Given the description of an element on the screen output the (x, y) to click on. 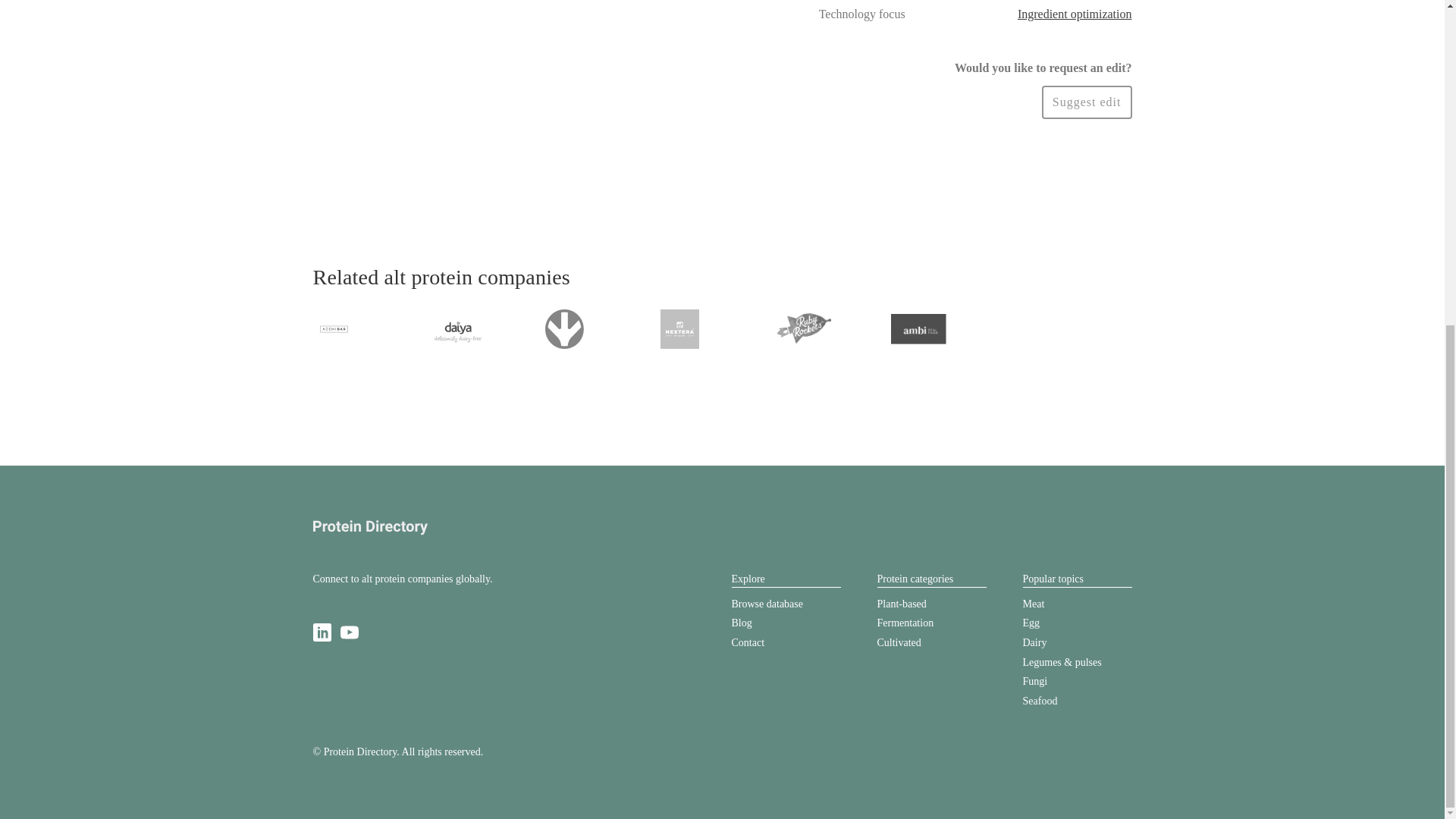
Connect to alt protein companies globally. (402, 579)
Contact (747, 642)
Ingredient optimization (1074, 13)
Browse database (766, 604)
Suggest edit (1087, 101)
Blog (740, 622)
